Given the description of an element on the screen output the (x, y) to click on. 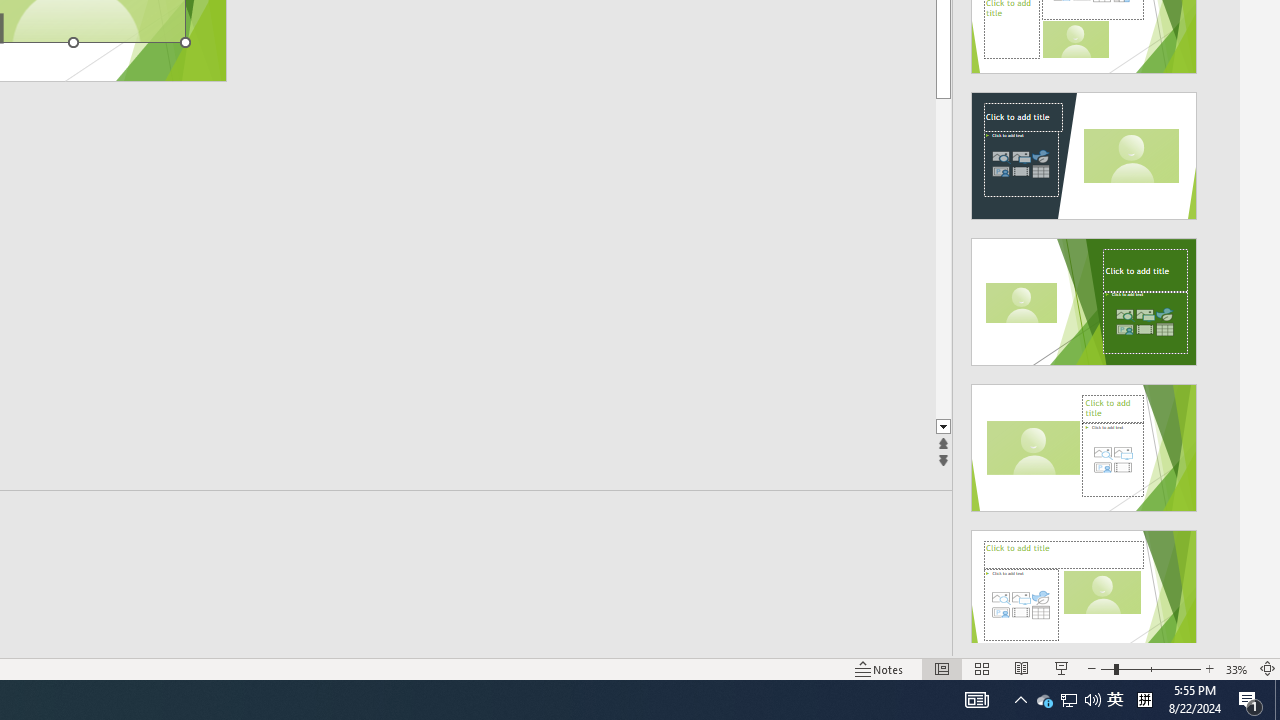
Zoom 33% (1236, 668)
